Given the description of an element on the screen output the (x, y) to click on. 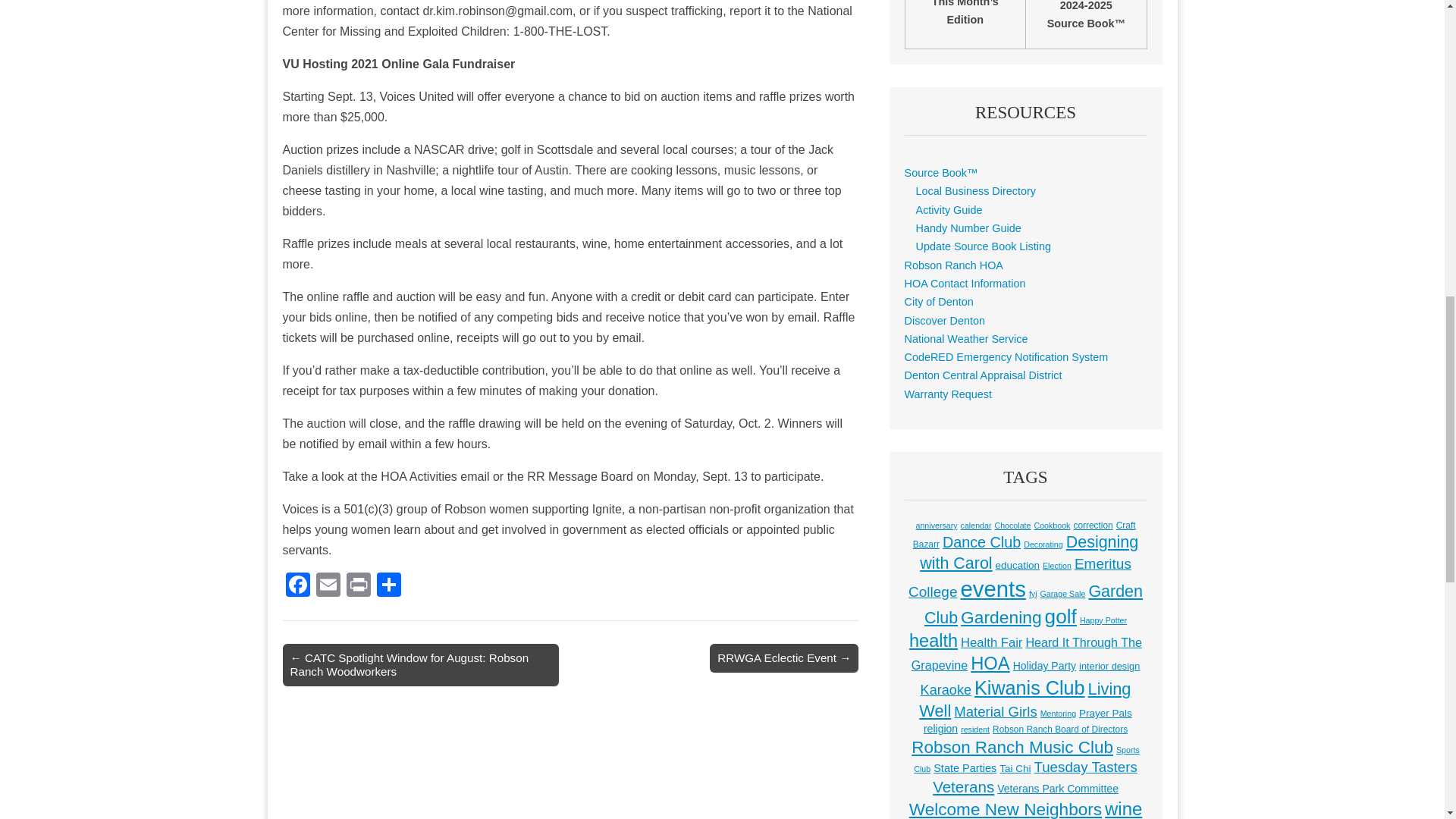
Share (387, 586)
Facebook (297, 586)
Print (357, 586)
Email (327, 586)
Print (357, 586)
Email (327, 586)
Facebook (297, 586)
